Given the description of an element on the screen output the (x, y) to click on. 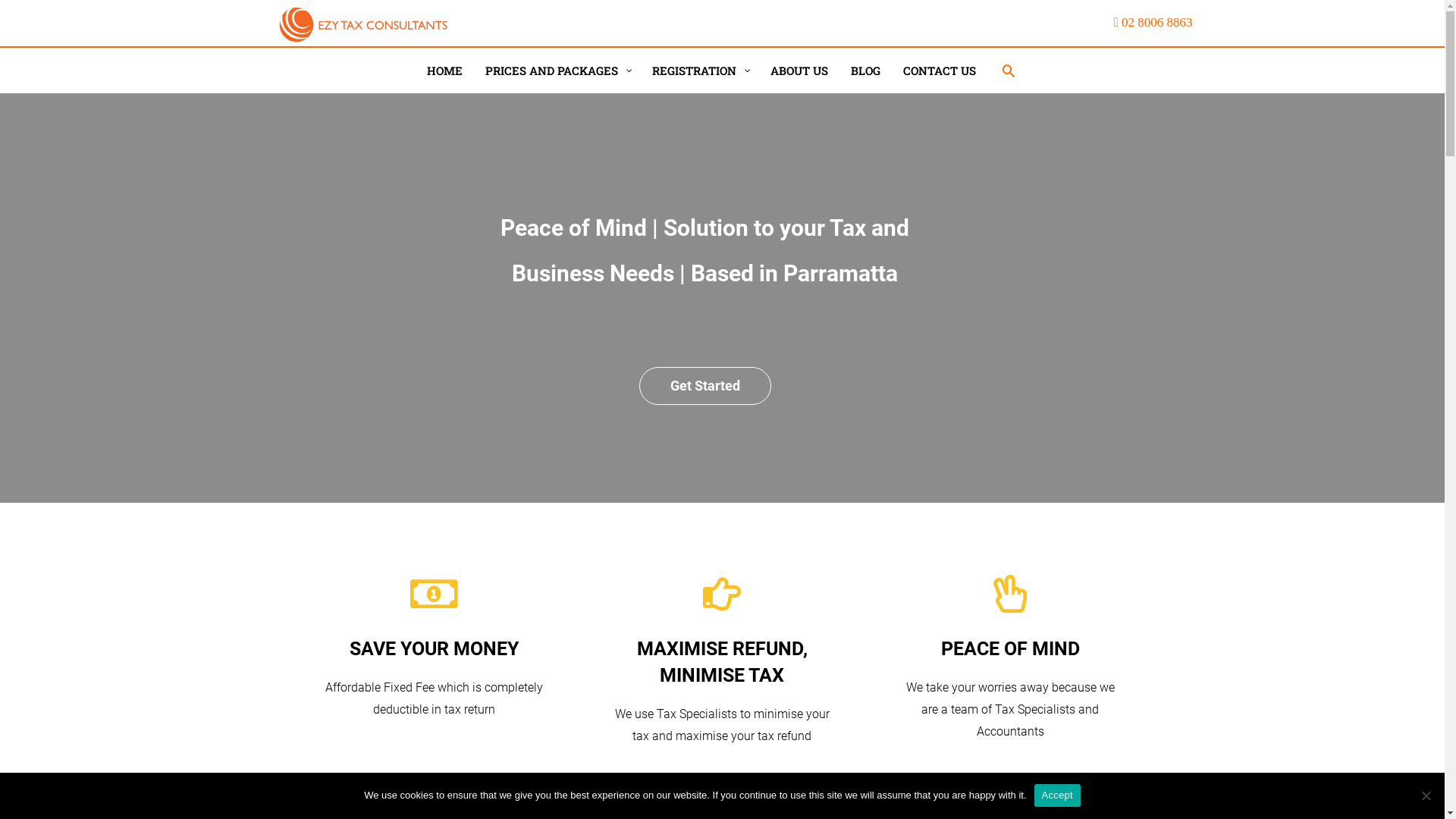
CONTACT US Element type: text (939, 70)
Accept Element type: text (1057, 795)
No Element type: hover (1425, 795)
HOME Element type: text (444, 70)
REGISTRATION Element type: text (699, 70)
PRICES AND PACKAGES Element type: text (556, 70)
ABOUT US Element type: text (798, 70)
BLOG Element type: text (864, 70)
Search Element type: text (38, 15)
Get Started Element type: text (705, 385)
